Given the description of an element on the screen output the (x, y) to click on. 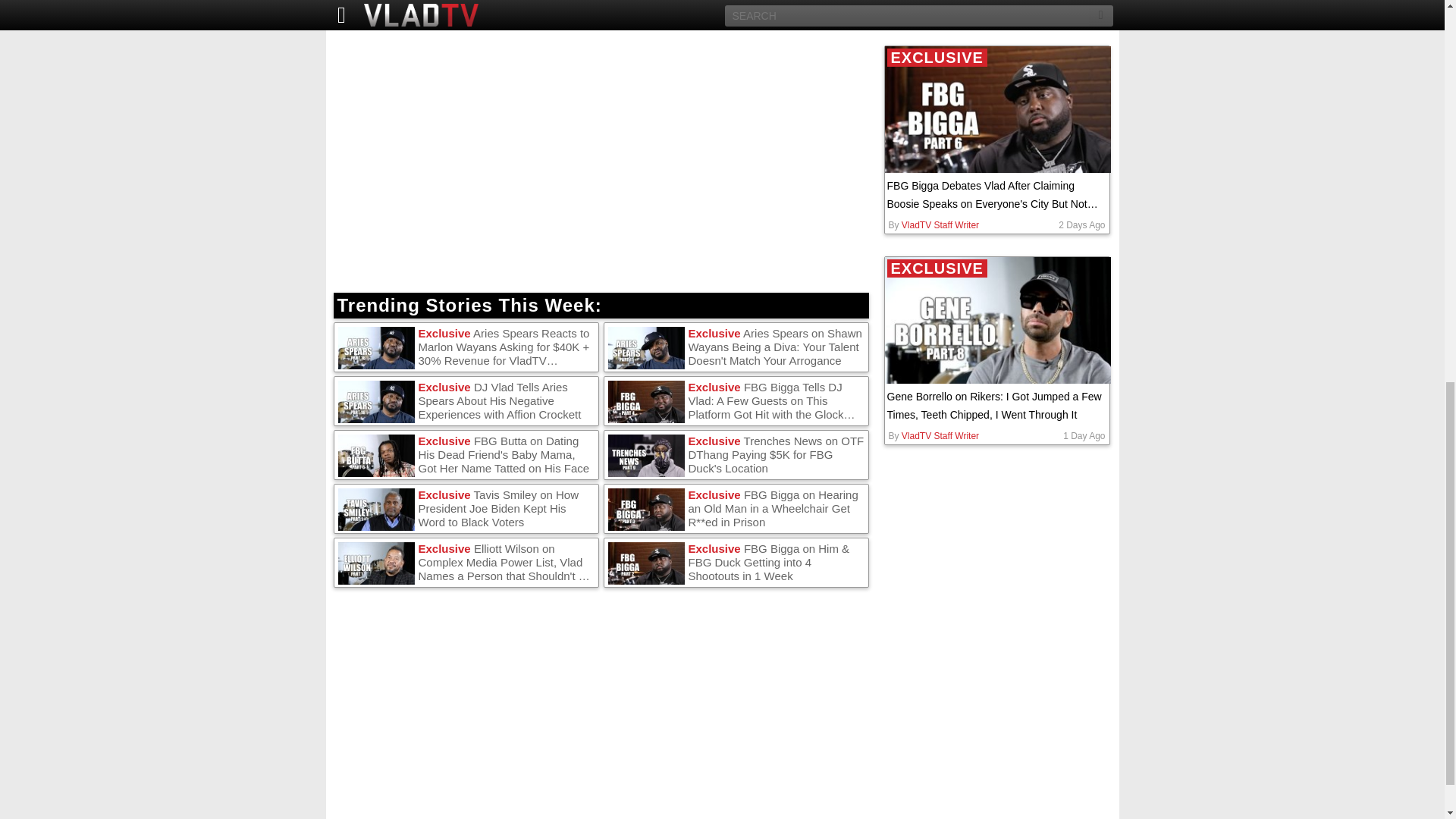
The Blast (447, 7)
